Given the description of an element on the screen output the (x, y) to click on. 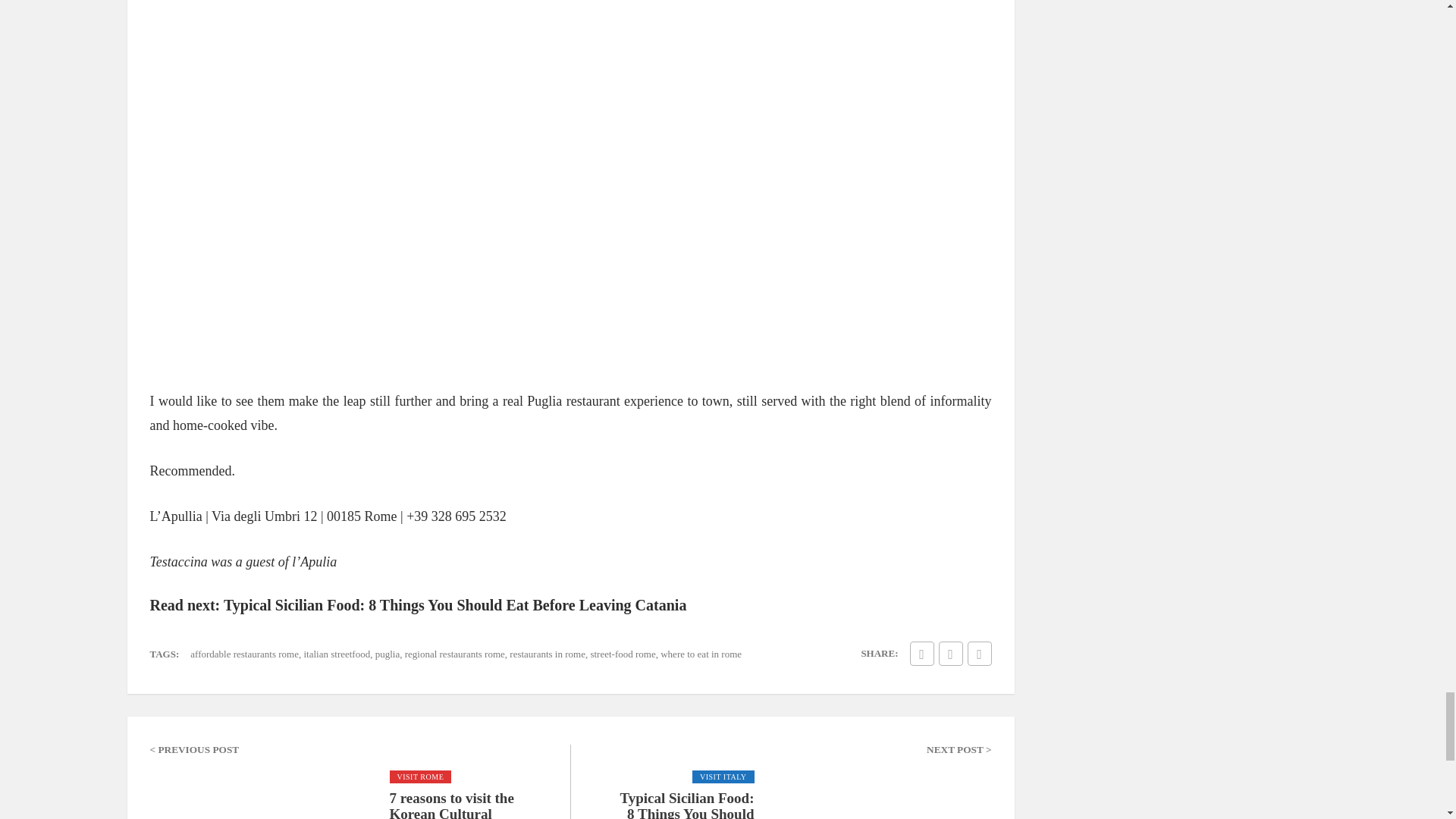
affordable restaurants rome (244, 654)
Share toPinterest (979, 653)
street-food rome (622, 654)
puglia (387, 654)
where to eat in rome (701, 654)
restaurants in rome (547, 654)
Share toFacebook (922, 653)
Share toTwitter (950, 653)
regional restaurants rome (454, 654)
italian streetfood (335, 654)
